Given the description of an element on the screen output the (x, y) to click on. 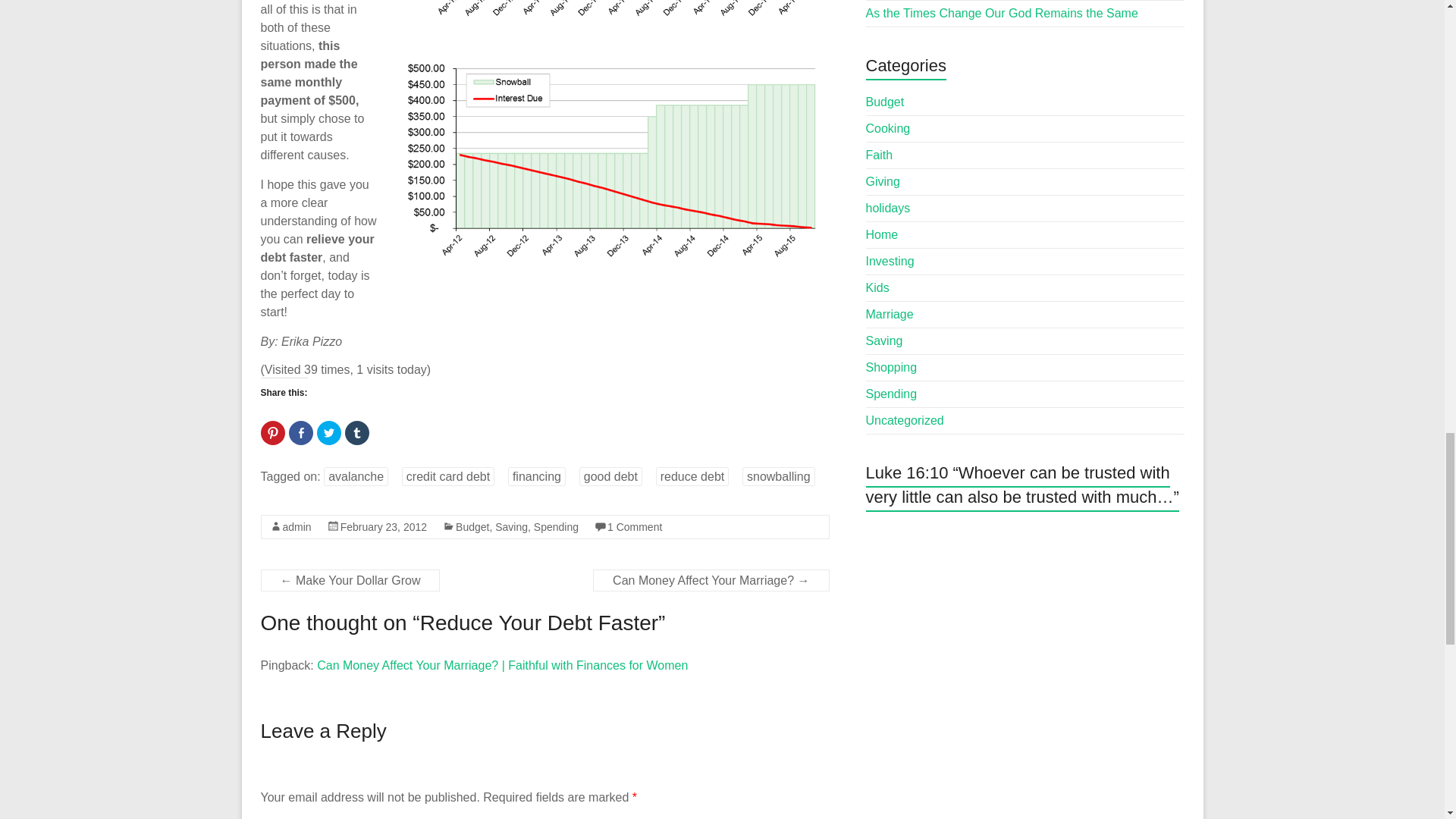
snowballing (778, 476)
reduce debt (692, 476)
Picture2 (612, 13)
Saving (511, 526)
Click to share on Tumblr (355, 432)
1 Comment (634, 526)
credit card debt (448, 476)
Picture3 (615, 156)
February 23, 2012 (383, 526)
8:47 am (383, 526)
